Given the description of an element on the screen output the (x, y) to click on. 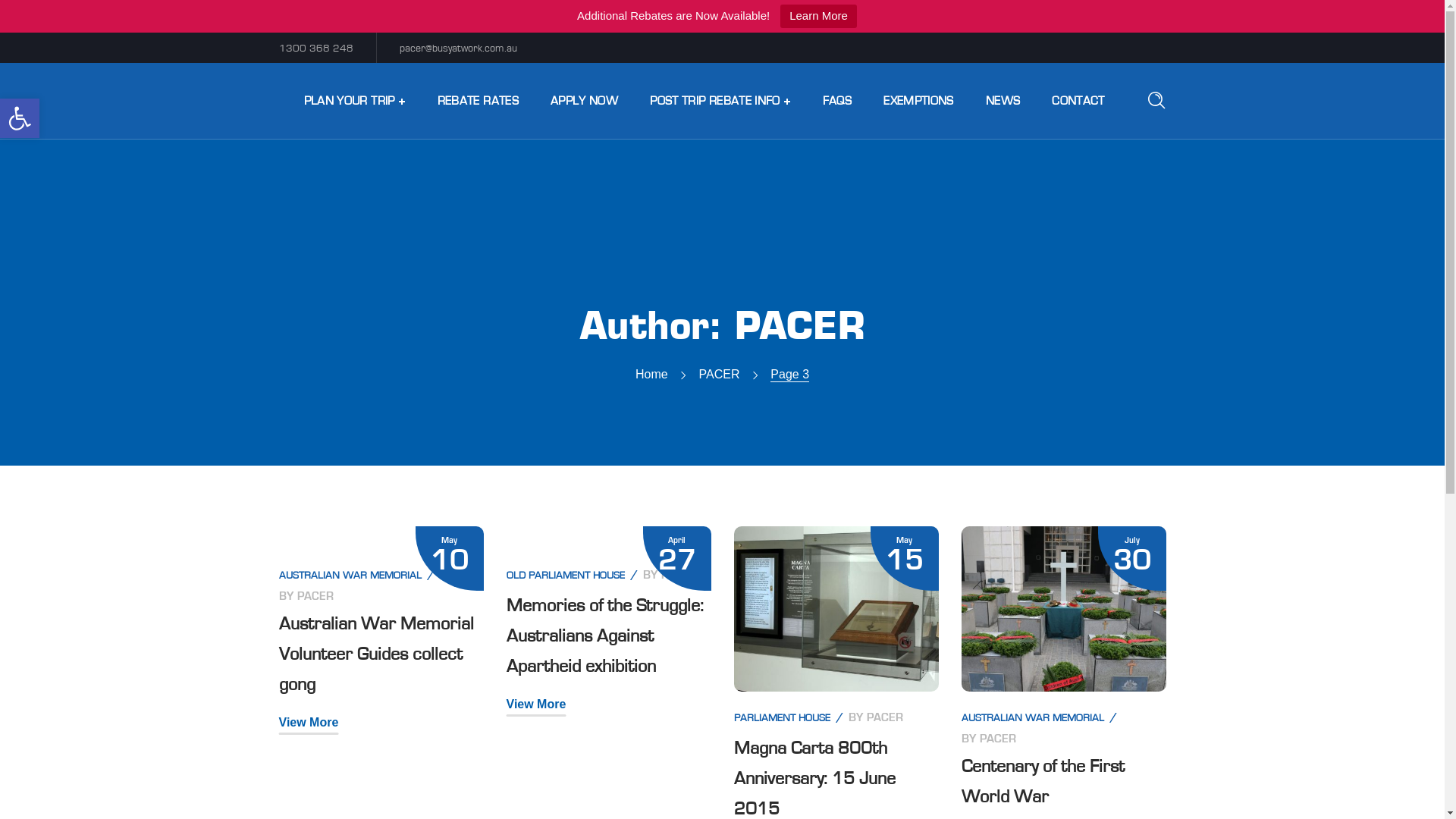
APPLY NOW Element type: text (583, 100)
Centenary of the First World War Element type: text (1042, 781)
1300 368 248 Element type: text (316, 48)
REBATE RATES Element type: text (477, 100)
Australian War Memorial Volunteer Guides collect gong Element type: text (376, 654)
CONTACT Element type: text (1077, 100)
PLAN YOUR TRIP Element type: text (354, 100)
Search Element type: text (1102, 65)
View More Element type: text (308, 722)
NEWS Element type: text (1002, 100)
pacer@busyatwork.com.au Element type: text (457, 48)
EXEMPTIONS Element type: text (918, 100)
PACER Element type: text (315, 595)
PACER Element type: text (884, 717)
Search Element type: text (1102, 193)
Home Element type: text (651, 373)
AUSTRALIAN WAR MEMORIAL Element type: text (350, 575)
AUSTRALIAN WAR MEMORIAL Element type: text (1032, 717)
PACER Element type: text (997, 738)
Learn More Element type: text (818, 16)
PARLIAMENT HOUSE Element type: text (782, 717)
FAQS Element type: text (836, 100)
View More Element type: text (536, 704)
POST TRIP REBATE INFO Element type: text (719, 100)
Open toolbar
Accessibility Tools Element type: text (19, 118)
Magna Carta 800th Anniversary: 15 June 2015 Element type: text (814, 778)
PACER Element type: text (719, 373)
PACER Element type: text (679, 574)
OLD PARLIAMENT HOUSE Element type: text (565, 575)
